Given the description of an element on the screen output the (x, y) to click on. 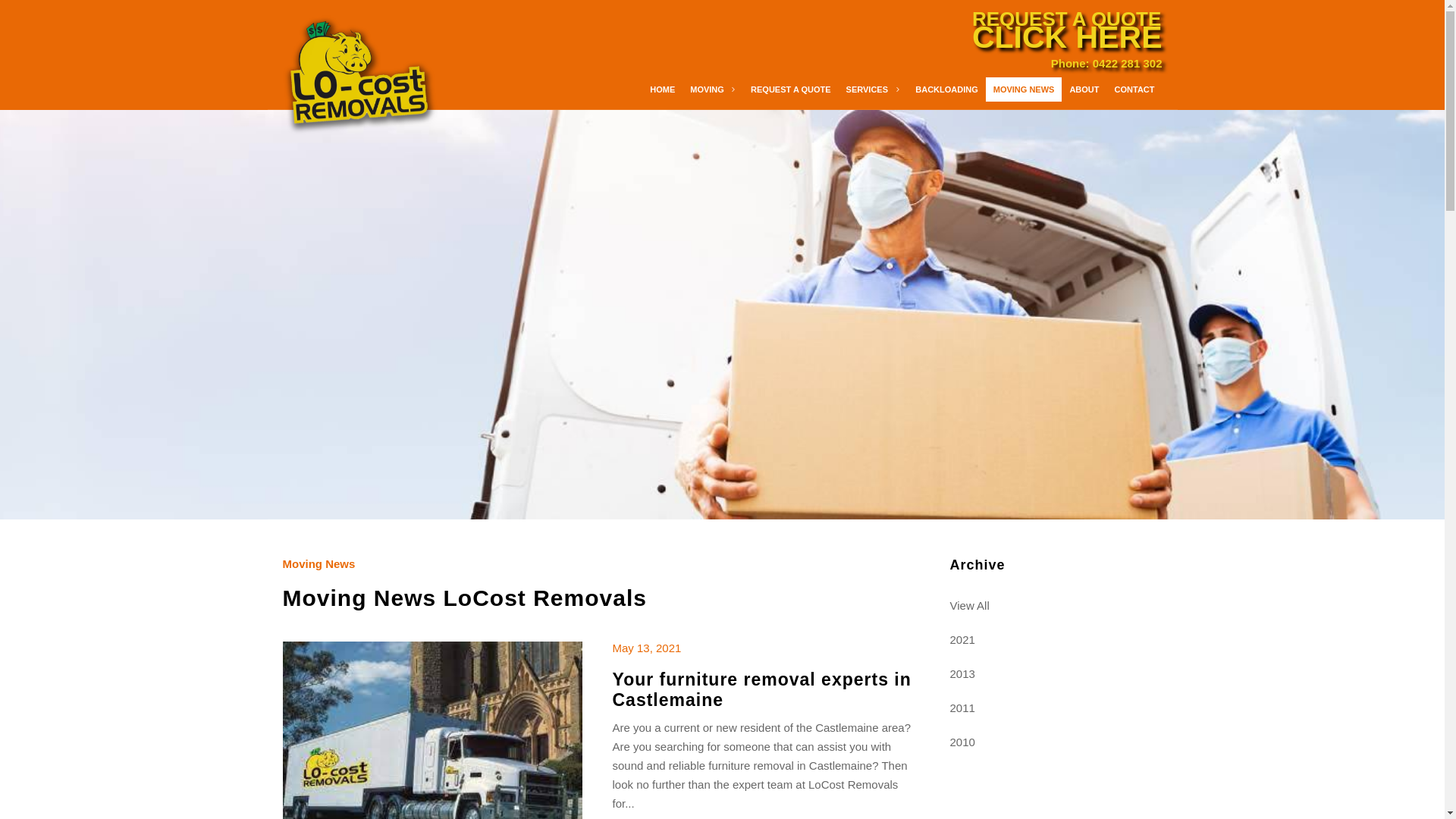
View All Element type: text (1055, 605)
REQUEST A QUOTE
CLICK HERE Element type: text (1067, 25)
REQUEST A QUOTE Element type: text (790, 89)
BACKLOADING Element type: text (946, 89)
ABOUT Element type: text (1083, 89)
MOVING Element type: text (712, 89)
2013 Element type: text (1055, 673)
2010 Element type: text (1055, 741)
2021 Element type: text (1055, 639)
HOME Element type: text (662, 89)
Phone: 0422 281 302 Element type: text (1106, 62)
CONTACT Element type: text (1134, 89)
MOVING NEWS Element type: text (1023, 89)
2011 Element type: text (1055, 707)
SERVICES Element type: text (872, 89)
